Given the description of an element on the screen output the (x, y) to click on. 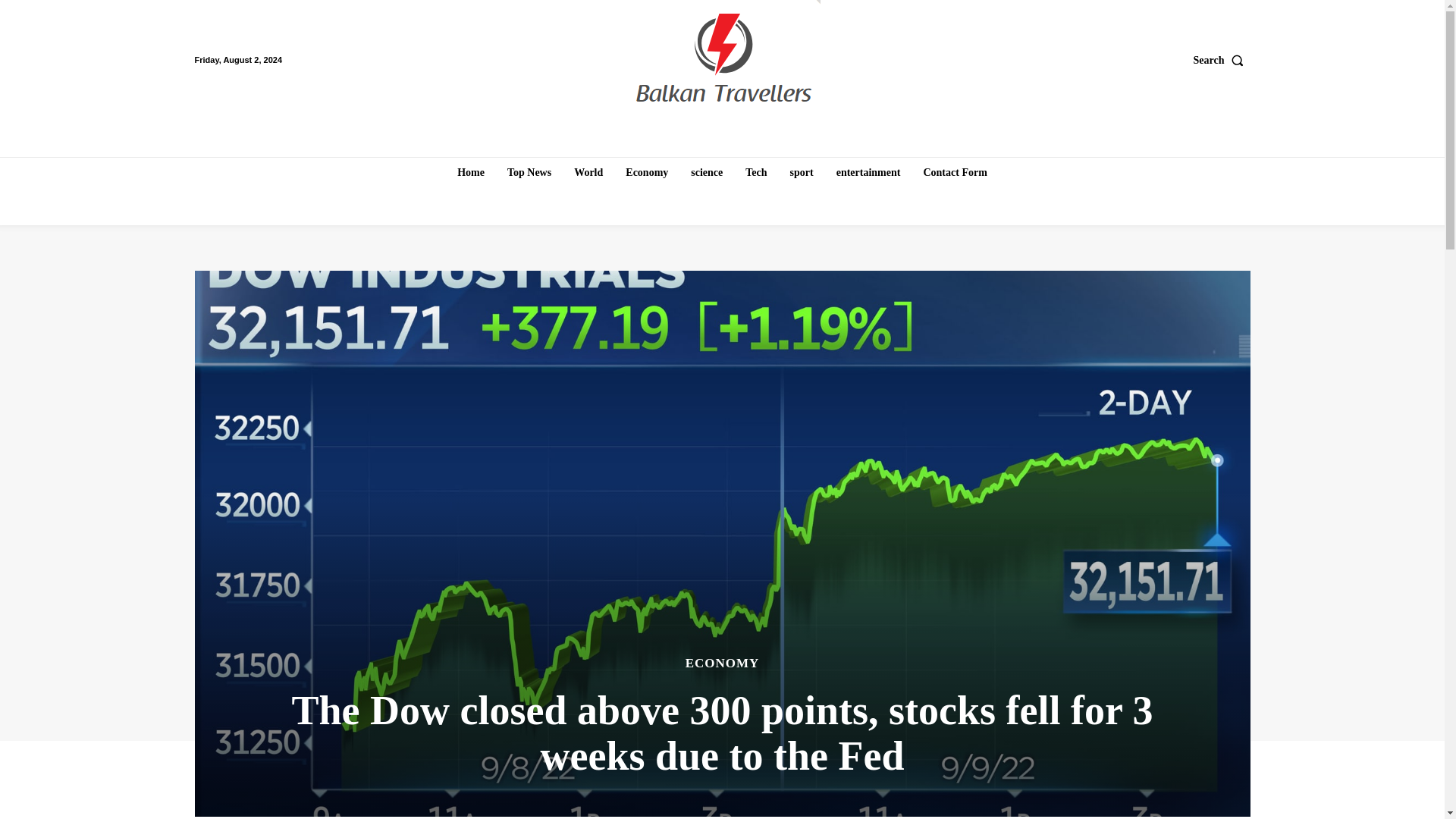
Economy (646, 173)
Tech (756, 173)
Contact Form (954, 173)
Home (470, 173)
World (588, 173)
Search (1221, 60)
science (706, 173)
sport (802, 173)
entertainment (868, 173)
Top News (529, 173)
